Given the description of an element on the screen output the (x, y) to click on. 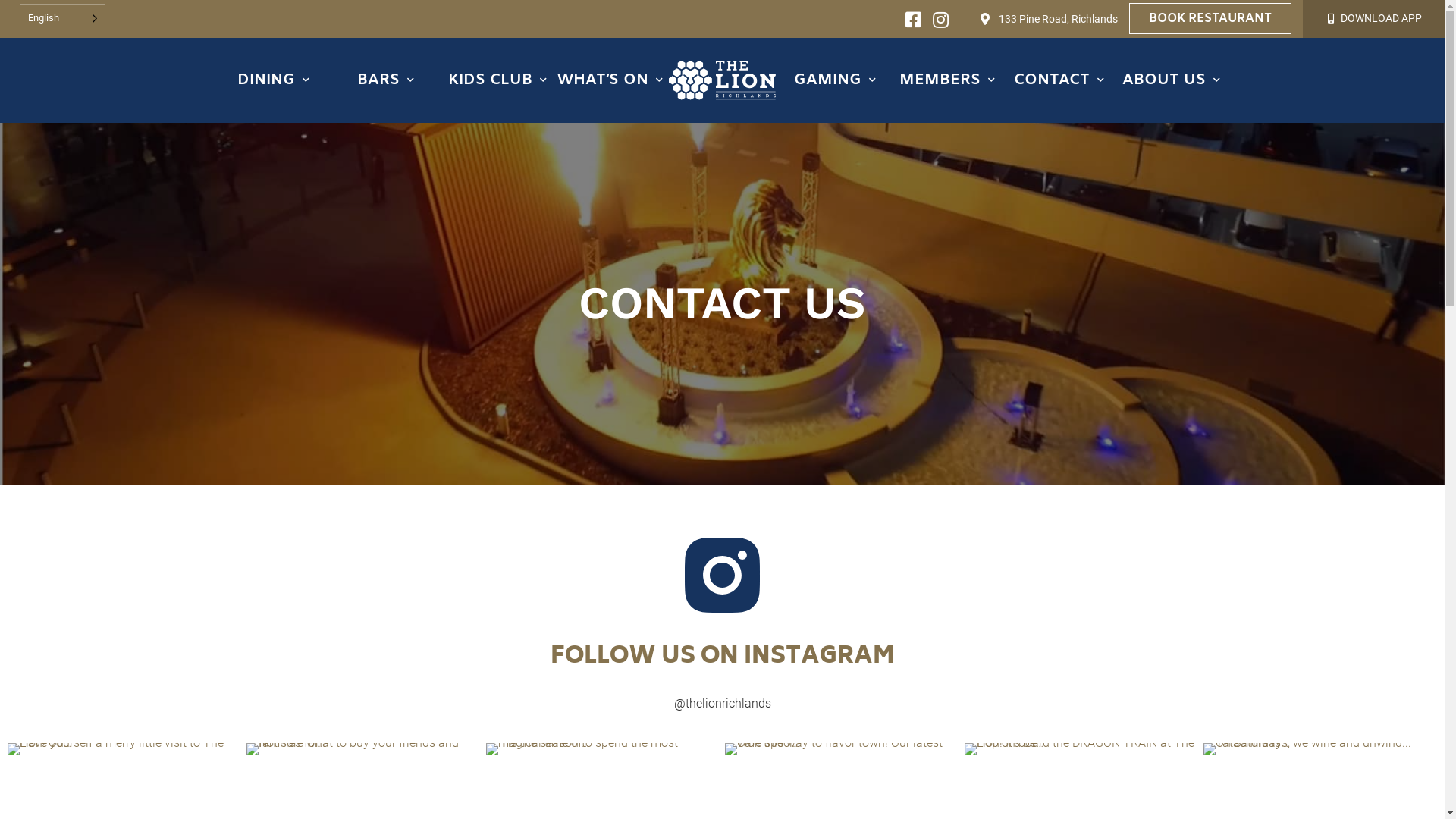
MEMBERS Element type: text (947, 80)
133 Pine Road, Richlands Element type: text (1057, 18)
CONTACT Element type: text (1059, 80)
ABOUT US Element type: text (1171, 80)
@thelionrichlands Element type: text (721, 703)
KIDS CLUB Element type: text (497, 80)
DINING Element type: text (272, 80)
BARS Element type: text (385, 80)
BOOK RESTAURANT Element type: text (1210, 18)
GAMING Element type: text (834, 80)
DOWNLOAD APP Element type: text (1380, 18)
